Given the description of an element on the screen output the (x, y) to click on. 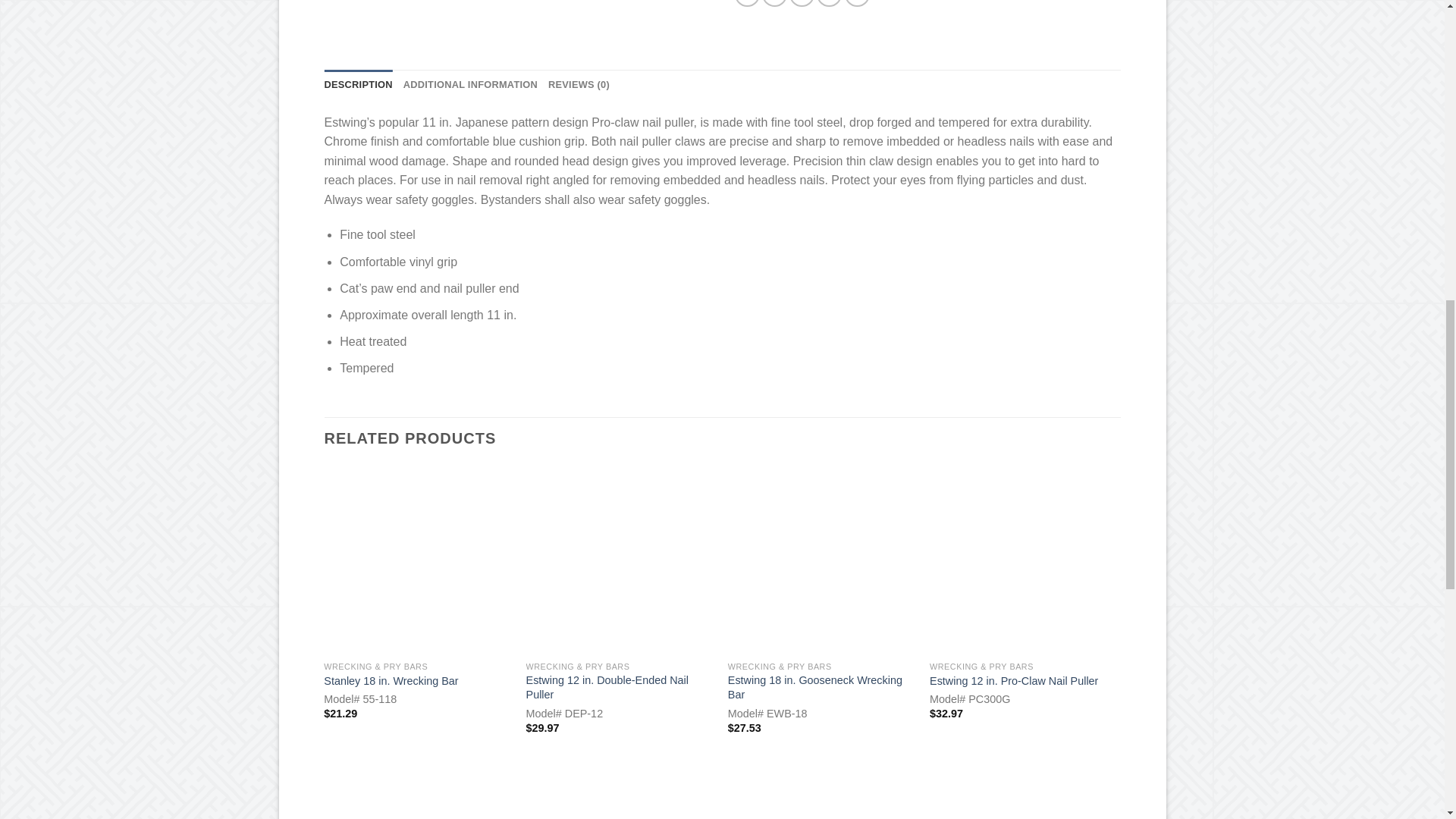
Share on Facebook (747, 3)
